Given the description of an element on the screen output the (x, y) to click on. 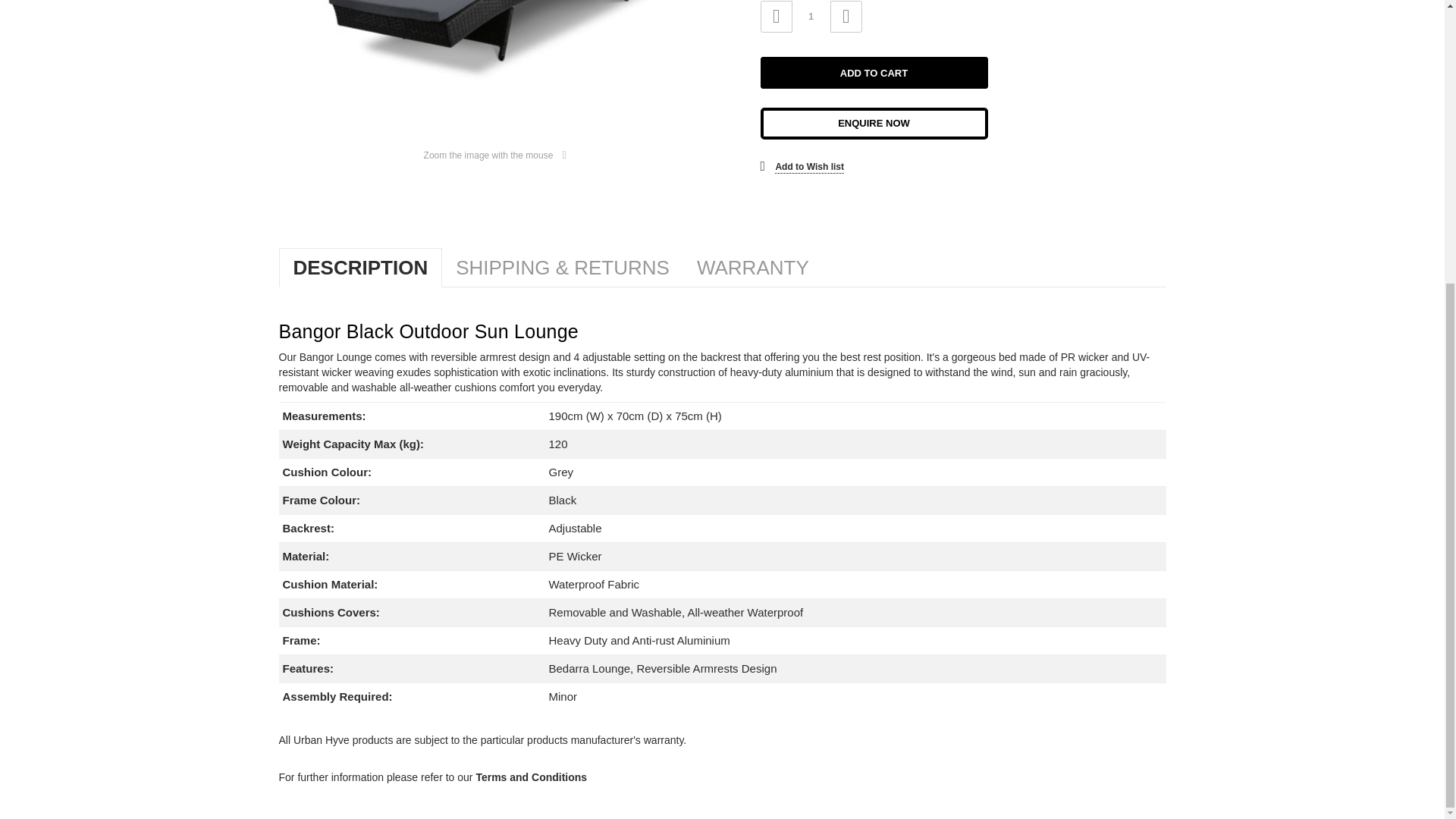
Add to Cart (873, 72)
1 (810, 16)
Bangor Black Outdoor Sun Lounge (495, 62)
